Given the description of an element on the screen output the (x, y) to click on. 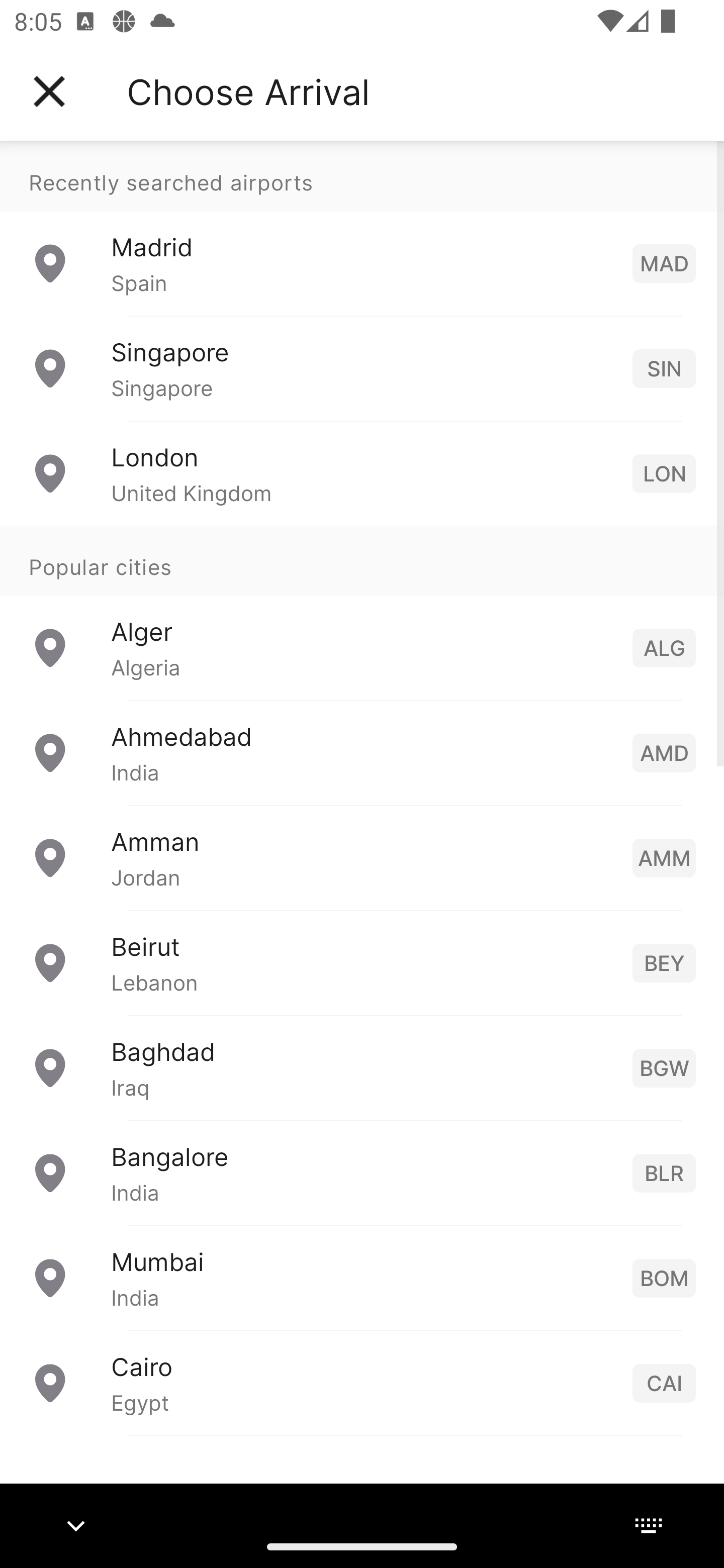
Choose Arrival (247, 91)
Recently searched airports Madrid Spain MAD (362, 228)
Recently searched airports (362, 176)
Singapore Singapore SIN (362, 367)
London United Kingdom LON (362, 472)
Popular cities Alger Algeria ALG (362, 612)
Popular cities (362, 560)
Ahmedabad India AMD (362, 751)
Amman Jordan AMM (362, 856)
Beirut Lebanon BEY (362, 961)
Baghdad Iraq BGW (362, 1066)
Bangalore India BLR (362, 1171)
Mumbai India BOM (362, 1276)
Cairo Egypt CAI (362, 1381)
